Given the description of an element on the screen output the (x, y) to click on. 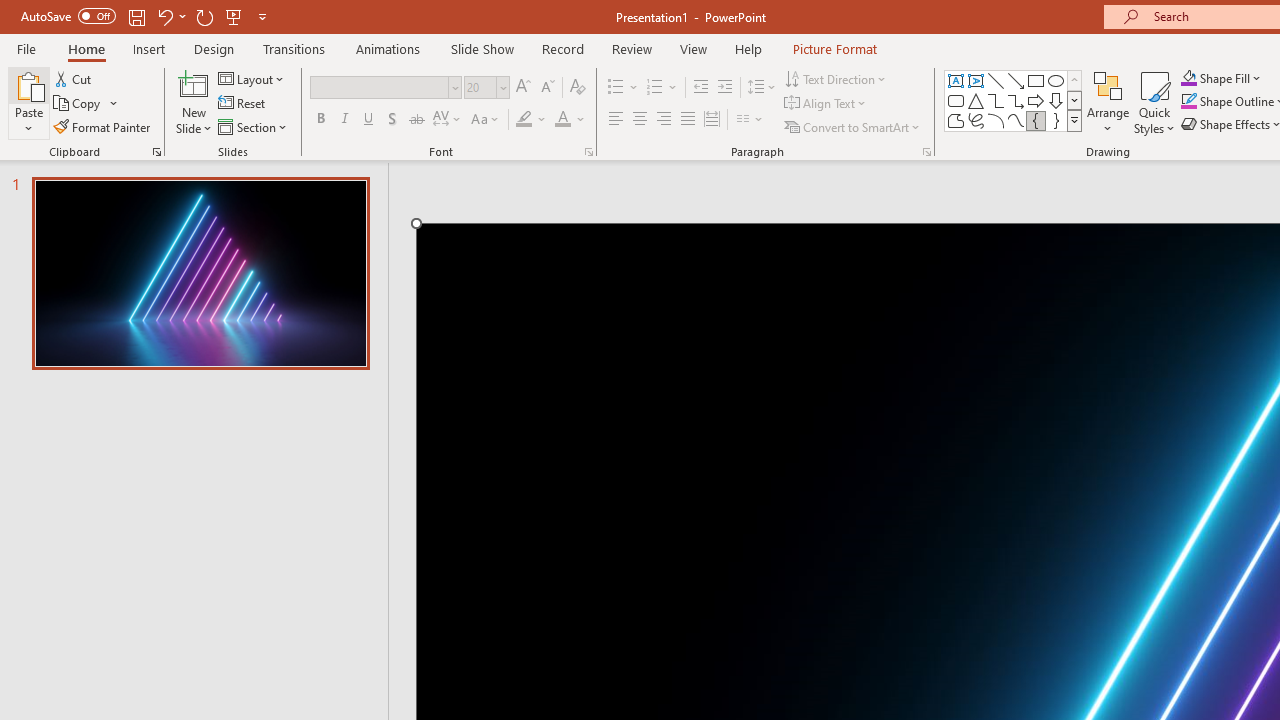
Shape Outline Blue, Accent 1 (1188, 101)
